Given the description of an element on the screen output the (x, y) to click on. 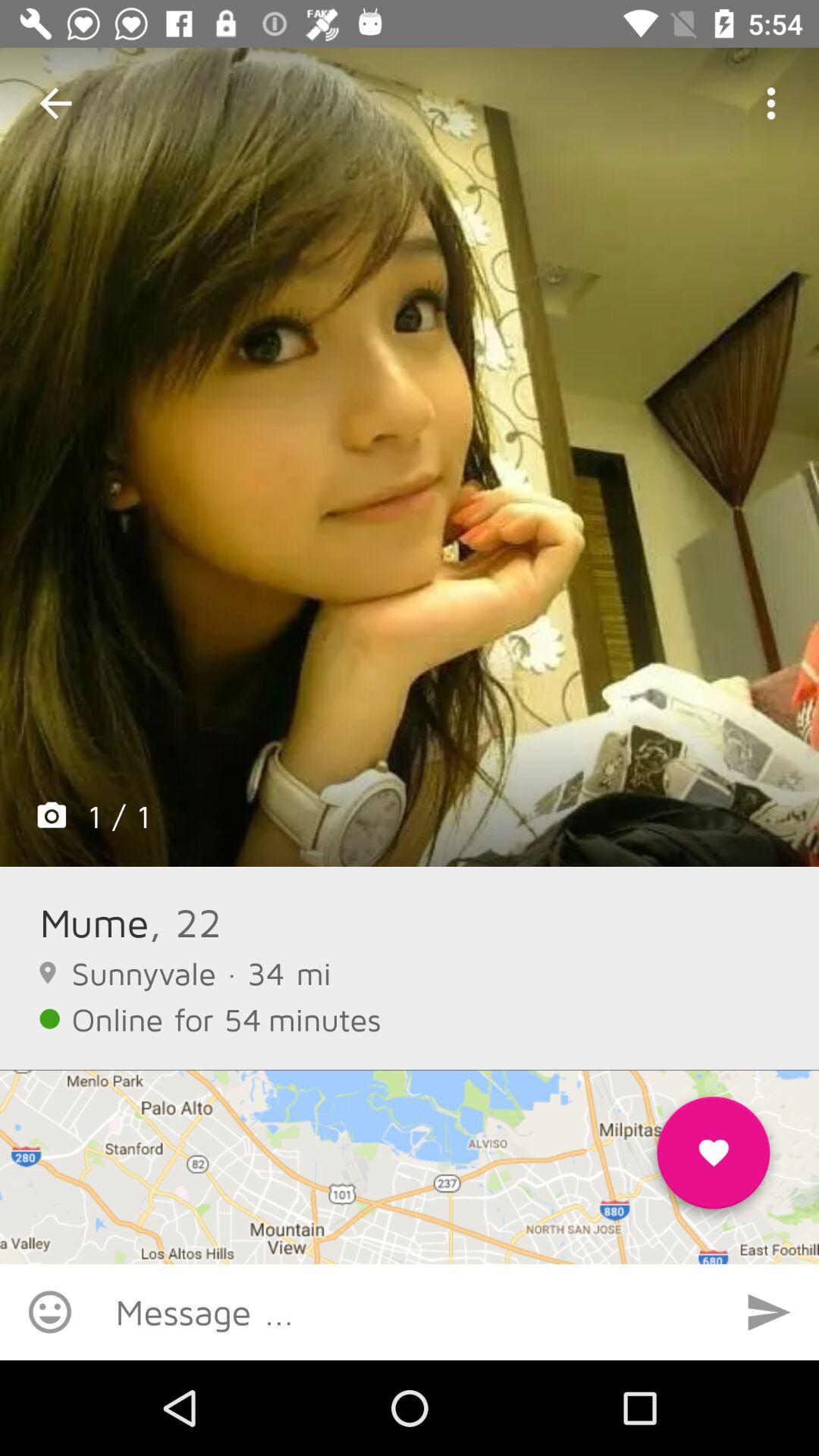
contact image (409, 456)
